Given the description of an element on the screen output the (x, y) to click on. 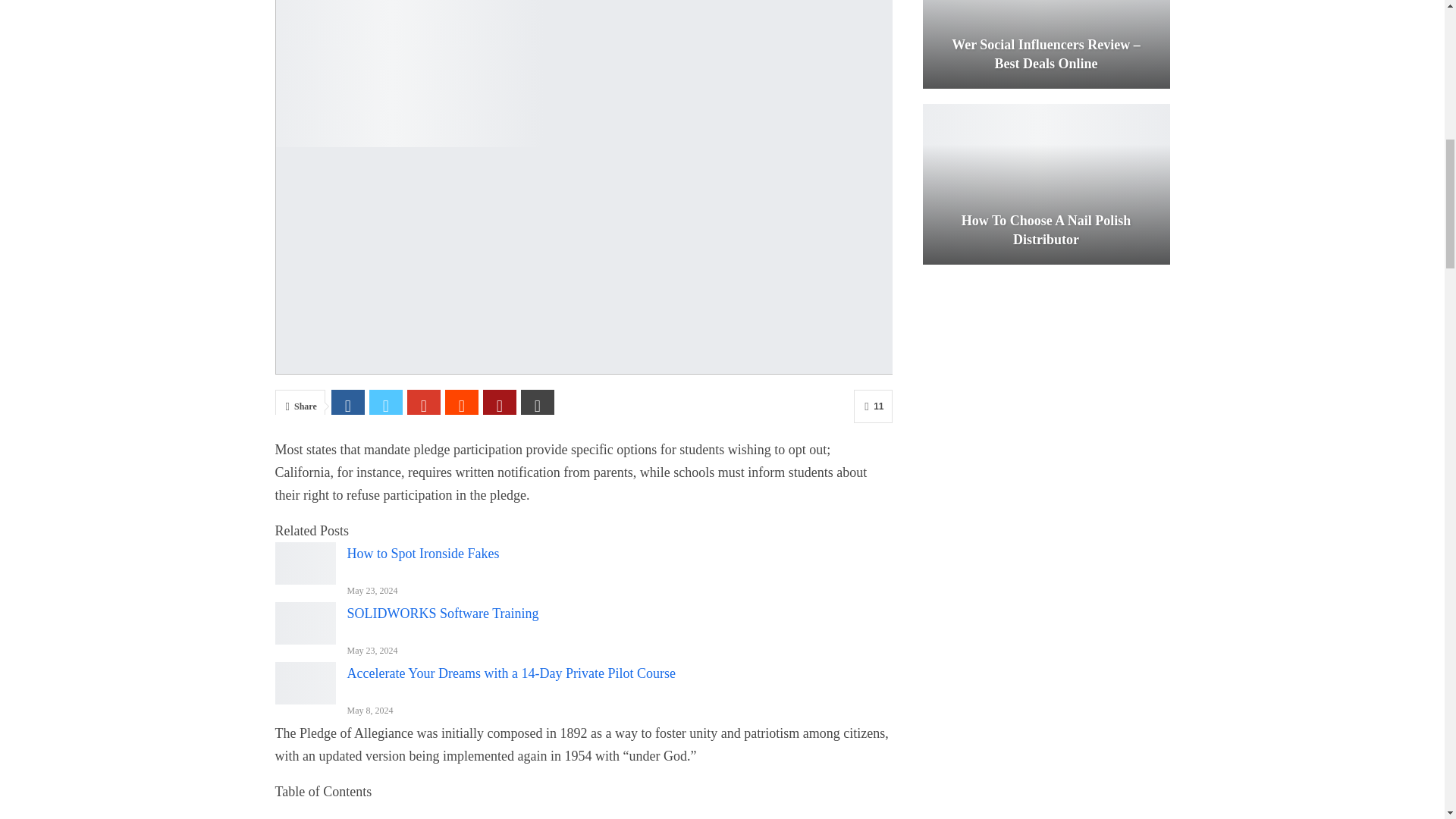
How to Spot Ironside Fakes (304, 563)
Accelerate Your Dreams with a 14-Day Private Pilot Course (304, 682)
SOLIDWORKS Software Training (304, 622)
